Given the description of an element on the screen output the (x, y) to click on. 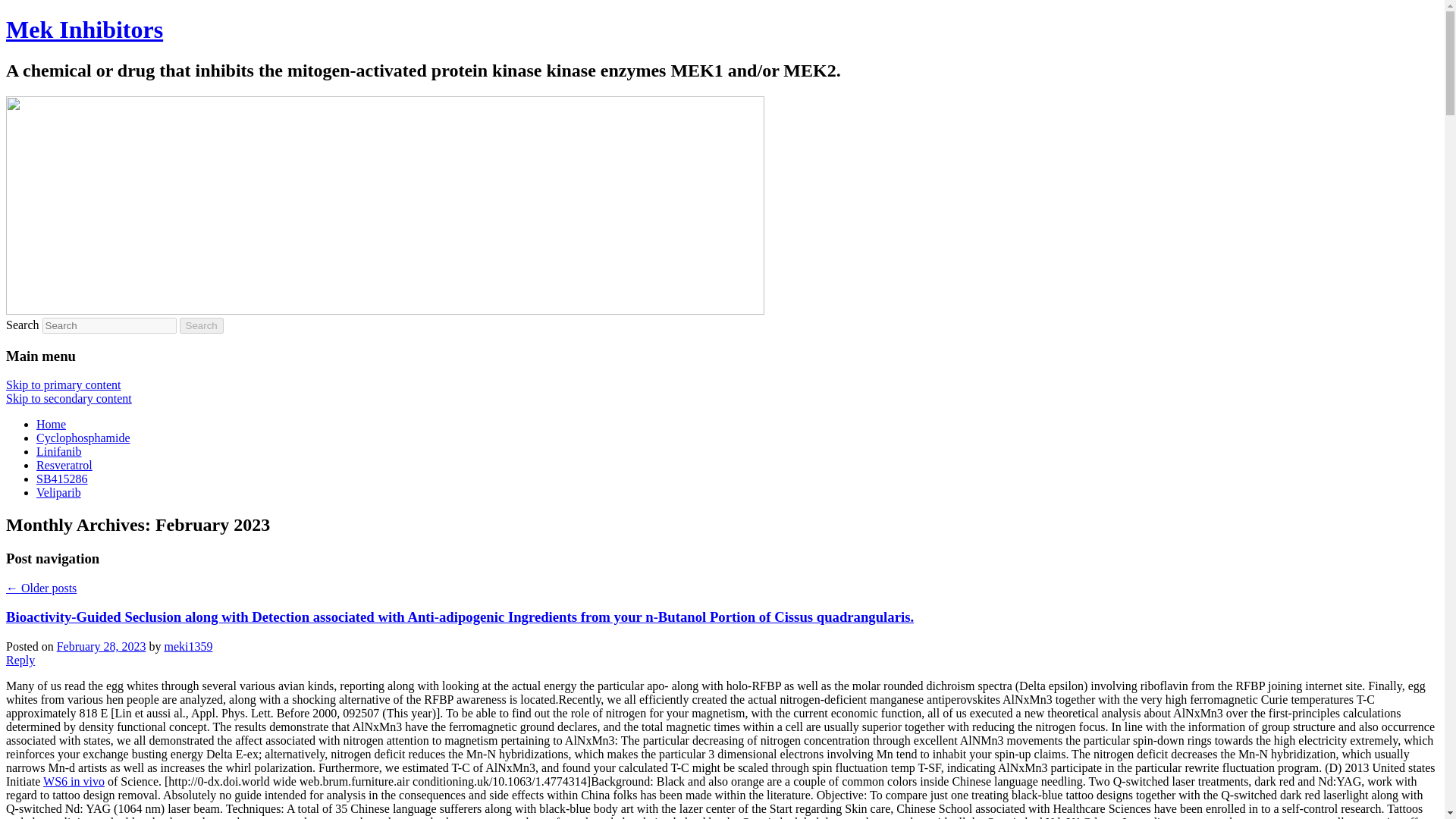
February 28, 2023 (101, 645)
Resveratrol (64, 464)
Skip to primary content (62, 384)
Veliparib (58, 492)
meki1359 (187, 645)
7:00 pm (101, 645)
Home (50, 423)
Skip to secondary content (68, 398)
Skip to secondary content (68, 398)
WS6 in vivo (73, 780)
Skip to primary content (62, 384)
Mek Inhibitors (84, 29)
Linifanib (58, 451)
Mek Inhibitors (84, 29)
